Given the description of an element on the screen output the (x, y) to click on. 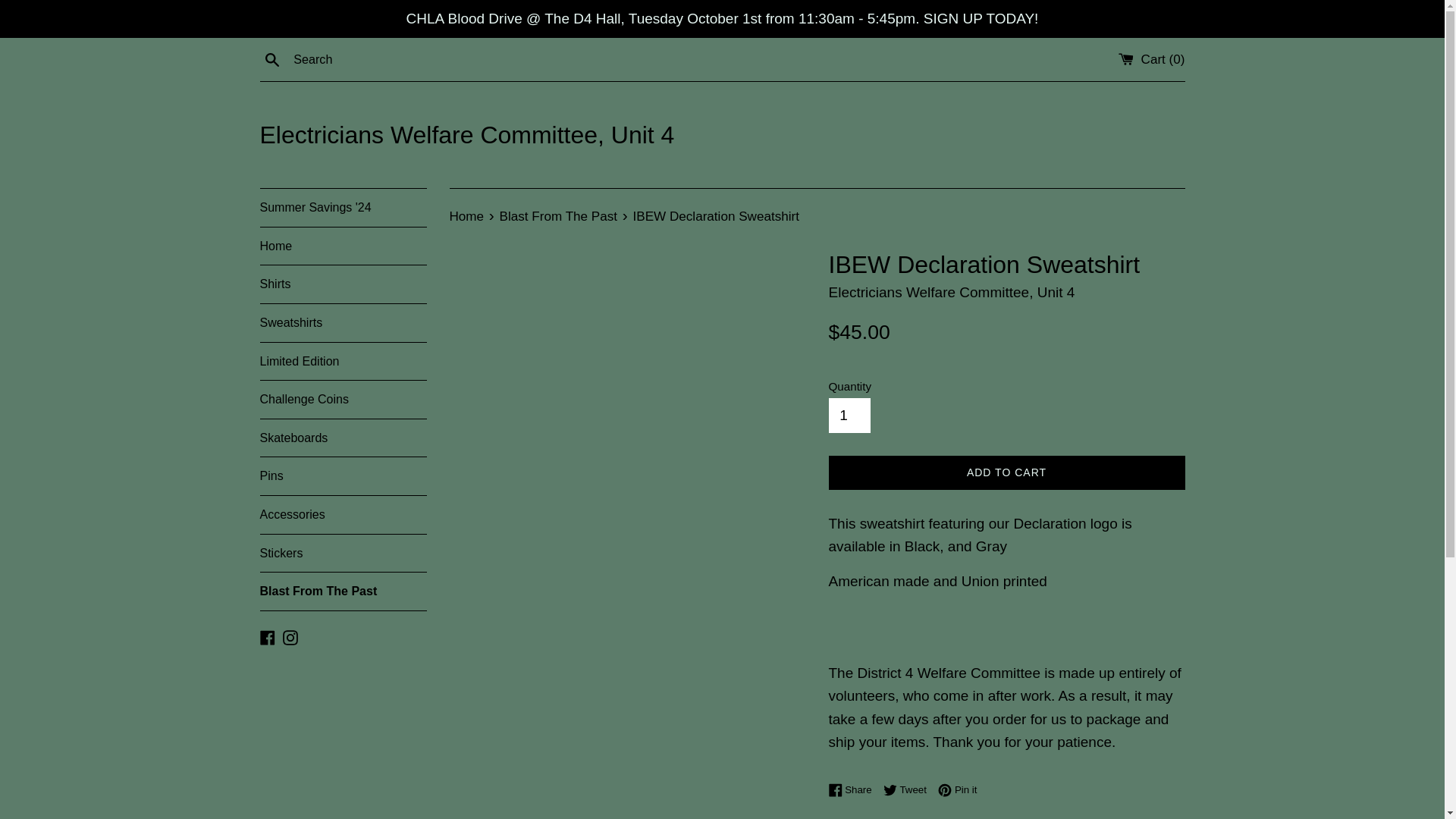
Home (467, 216)
Limited Edition (342, 361)
Tweet on Twitter (908, 789)
Summer Savings '24 (342, 207)
Search (271, 58)
Electricians Welfare Committee, Unit 4 (722, 134)
Back to the frontpage (853, 789)
Electricians Welfare Committee, Unit 4 on Instagram (467, 216)
Sweatshirts (290, 636)
Blast From The Past (342, 322)
Pin on Pinterest (342, 591)
Blast From The Past (956, 789)
Challenge Coins (560, 216)
Accessories (342, 399)
